Given the description of an element on the screen output the (x, y) to click on. 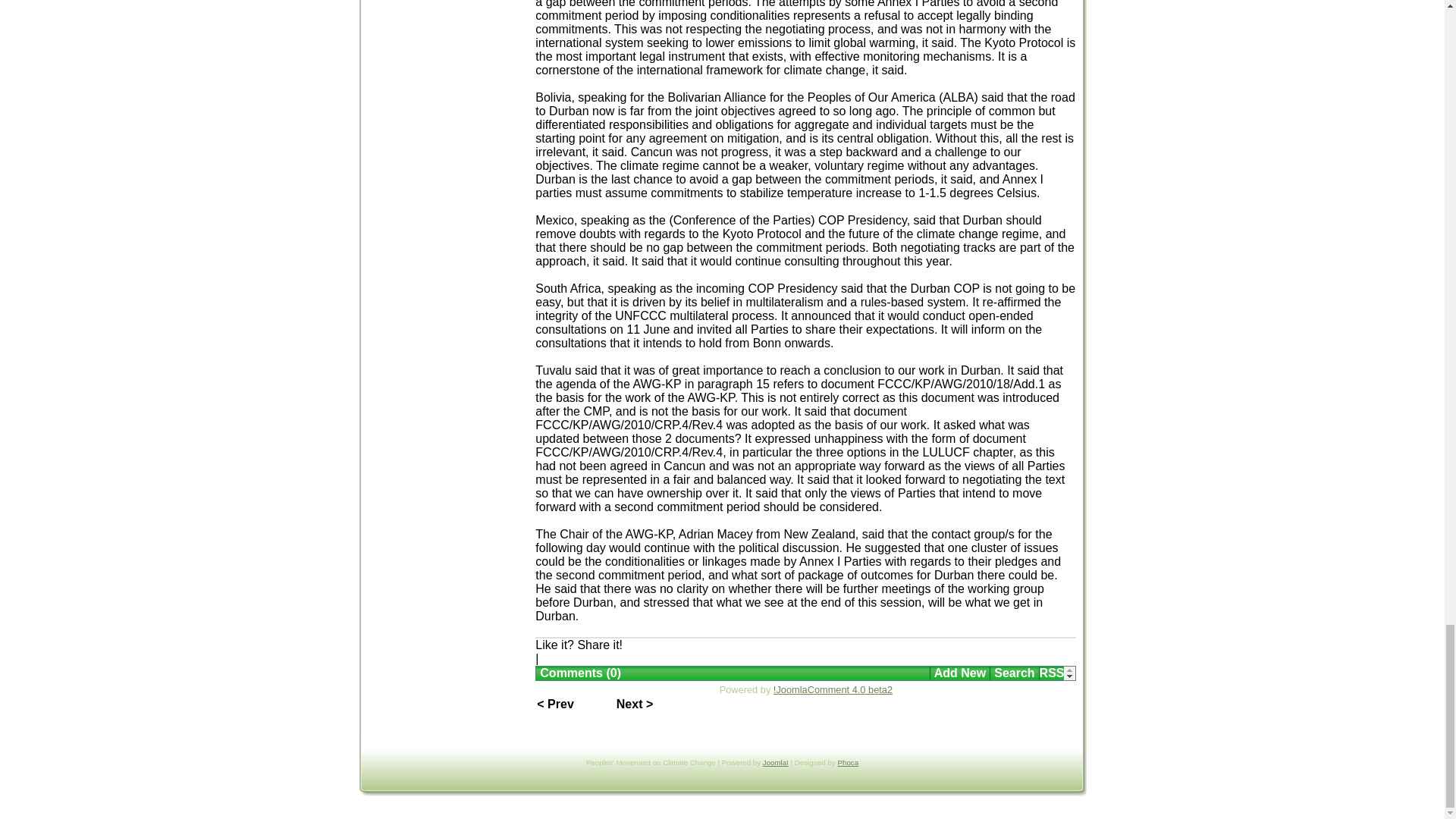
Add New (960, 672)
Search (1014, 672)
Joomla! (775, 762)
!JoomlaComment 4.0 beta2 (832, 689)
Phoca (848, 762)
